Given the description of an element on the screen output the (x, y) to click on. 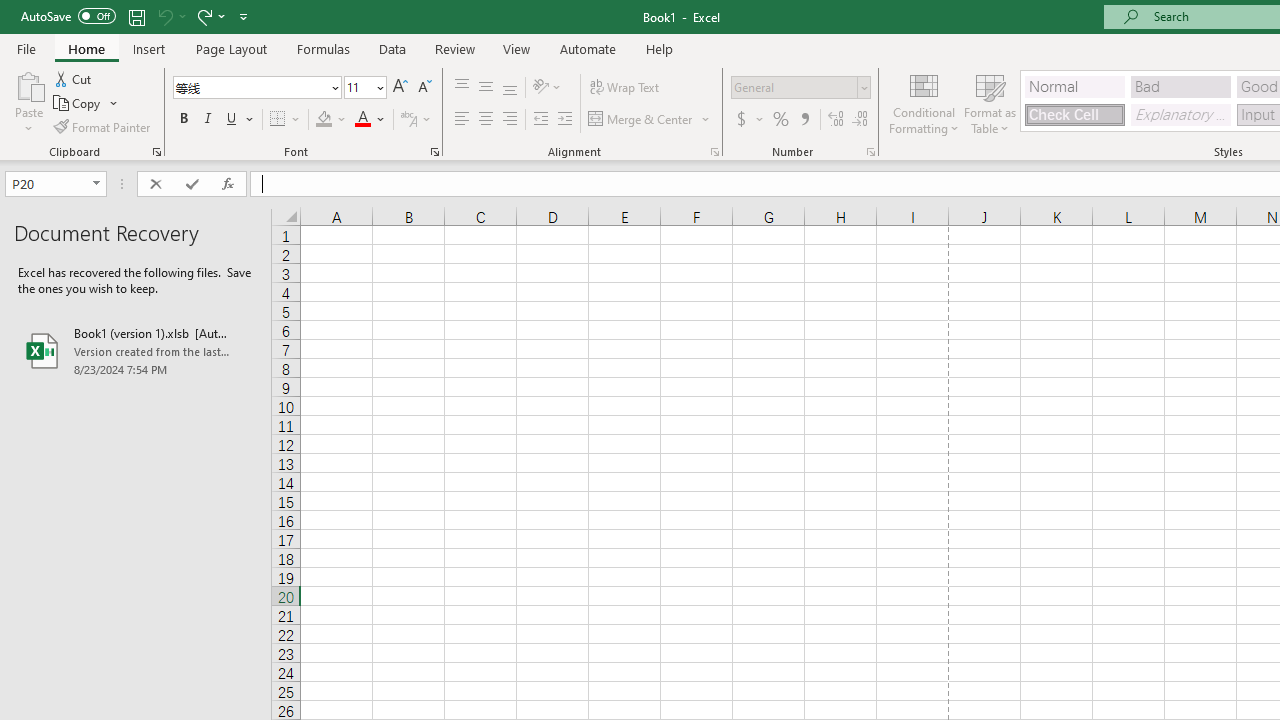
Format as Table (990, 102)
Merge & Center (649, 119)
Font Color RGB(255, 0, 0) (362, 119)
Font Size (358, 87)
Align Right (509, 119)
Middle Align (485, 87)
Format Cell Number (870, 151)
